Given the description of an element on the screen output the (x, y) to click on. 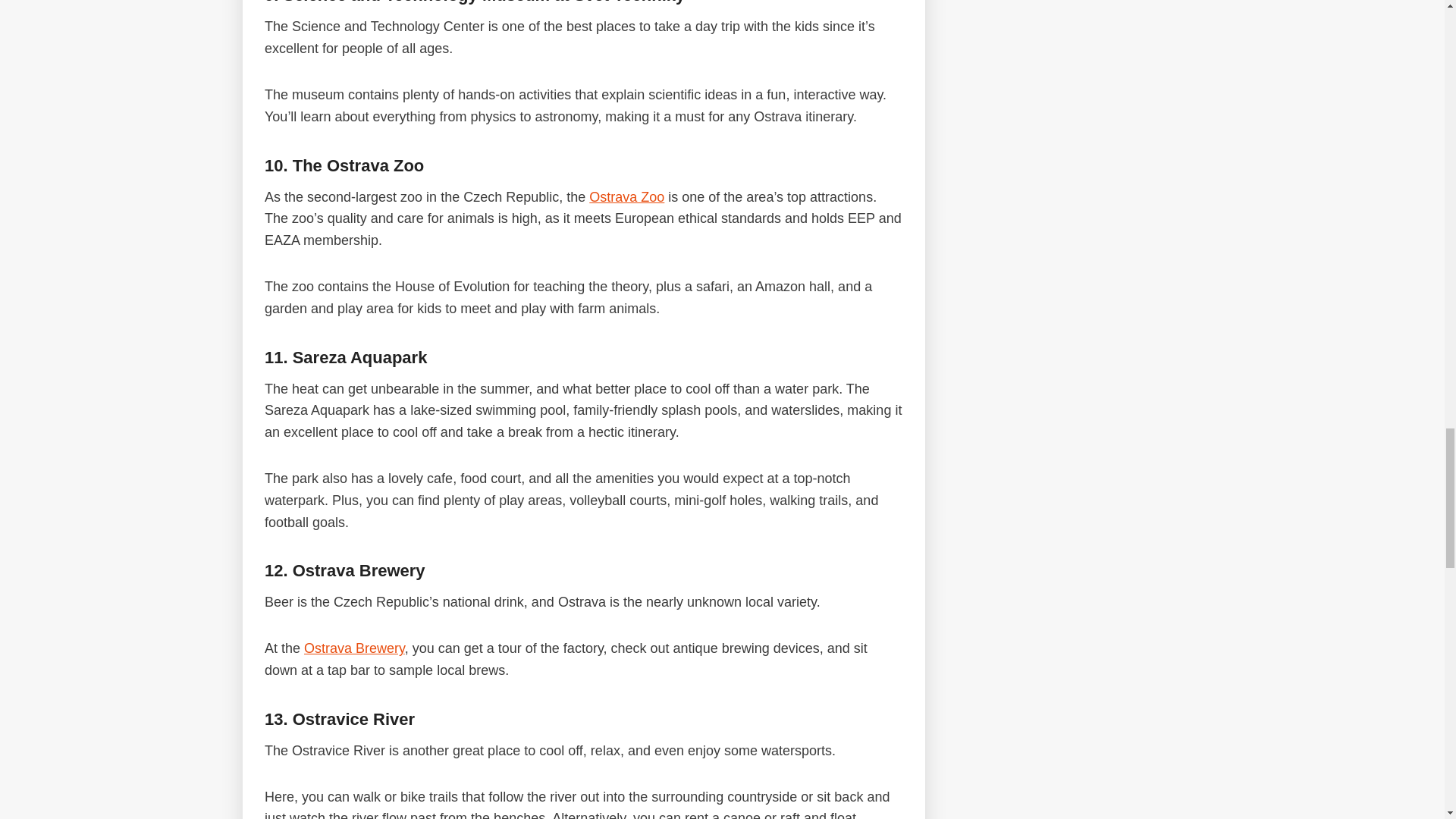
Ostrava Zoo (626, 196)
Ostrava Brewery (354, 648)
